Given the description of an element on the screen output the (x, y) to click on. 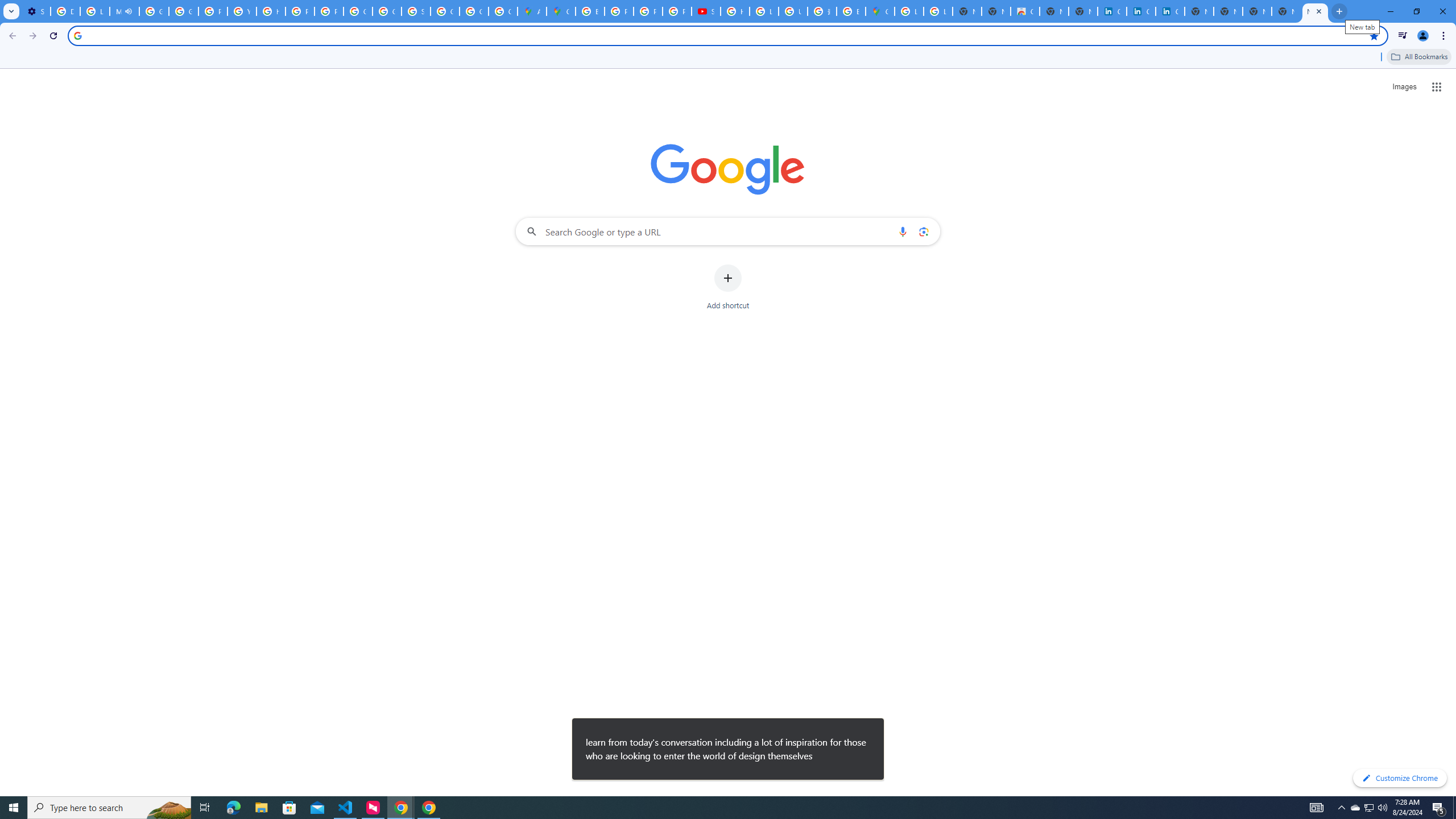
Copyright Policy (1169, 11)
Learn how to find your photos - Google Photos Help (95, 11)
Google Maps (560, 11)
How Chrome protects your passwords - Google Chrome Help (734, 11)
Add shortcut (727, 287)
Blogger Policies and Guidelines - Transparency Center (590, 11)
Privacy Help Center - Policies Help (619, 11)
